Given the description of an element on the screen output the (x, y) to click on. 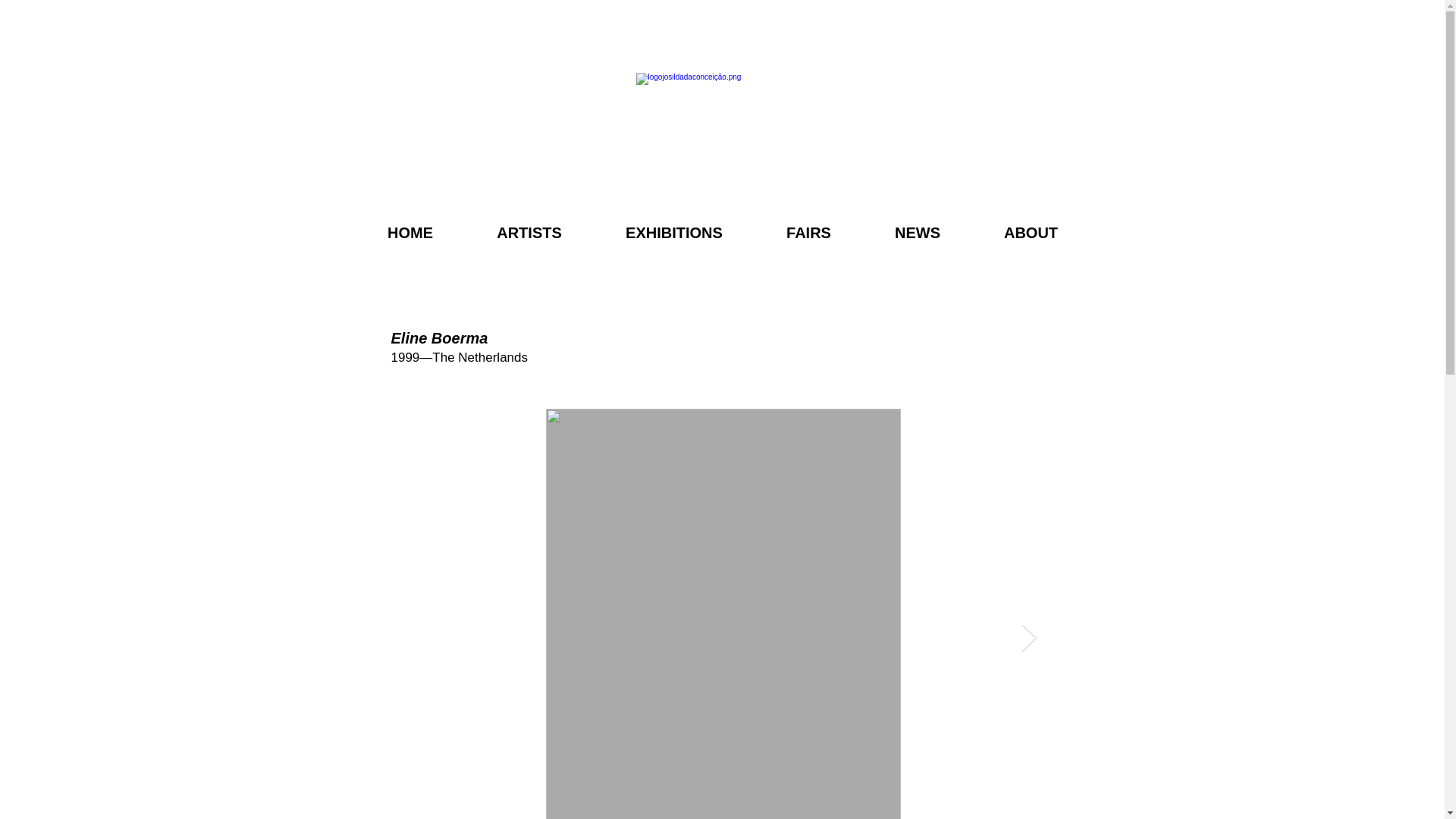
NEWS (917, 232)
EXHIBITIONS (674, 232)
ABOUT (1030, 232)
FAIRS (809, 232)
HOME (410, 232)
ARTISTS (529, 232)
